Given the description of an element on the screen output the (x, y) to click on. 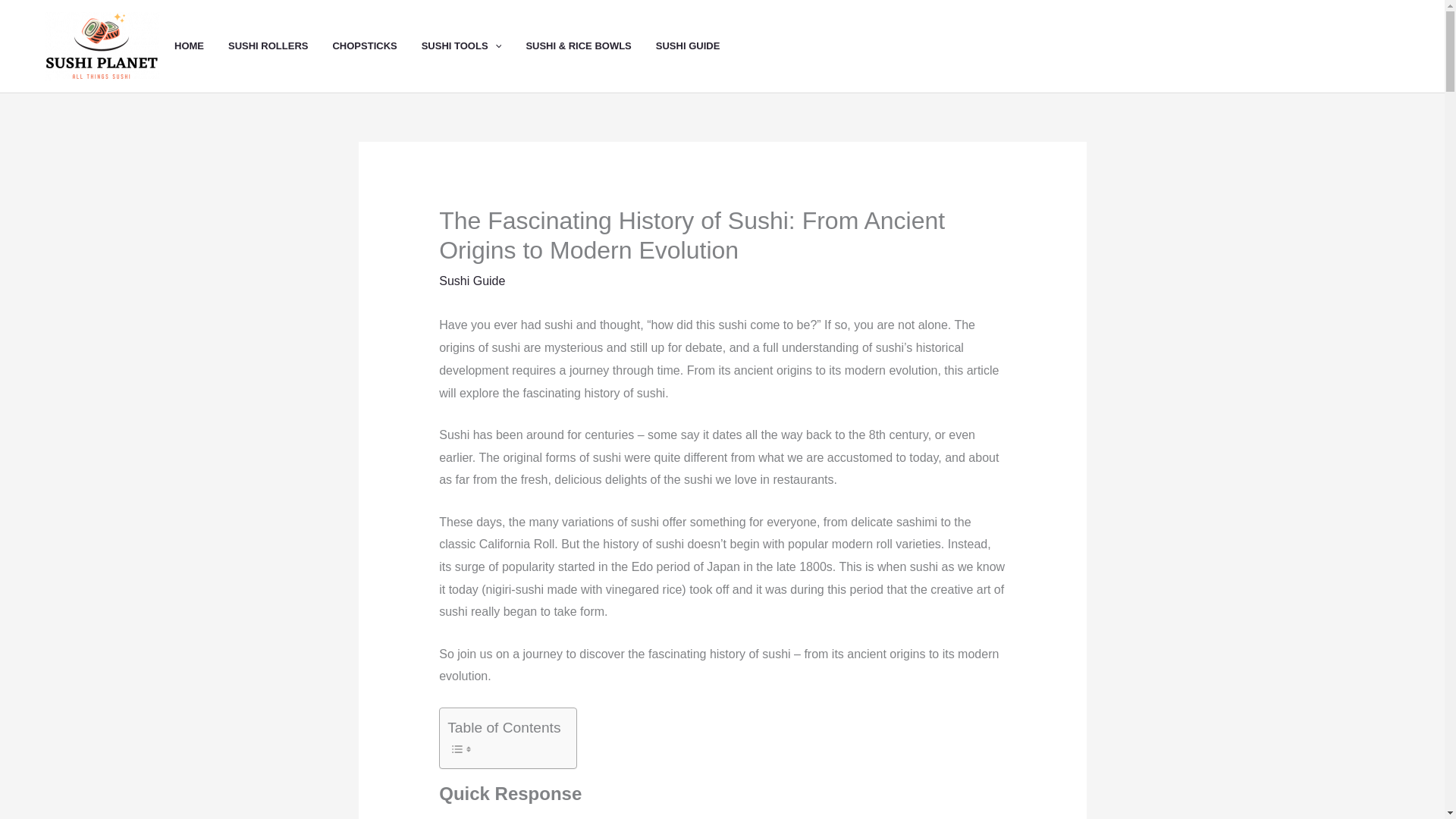
SUSHI GUIDE (700, 46)
SUSHI TOOLS (473, 46)
CHOPSTICKS (375, 46)
Sushi Guide (472, 280)
SUSHI ROLLERS (279, 46)
